Given the description of an element on the screen output the (x, y) to click on. 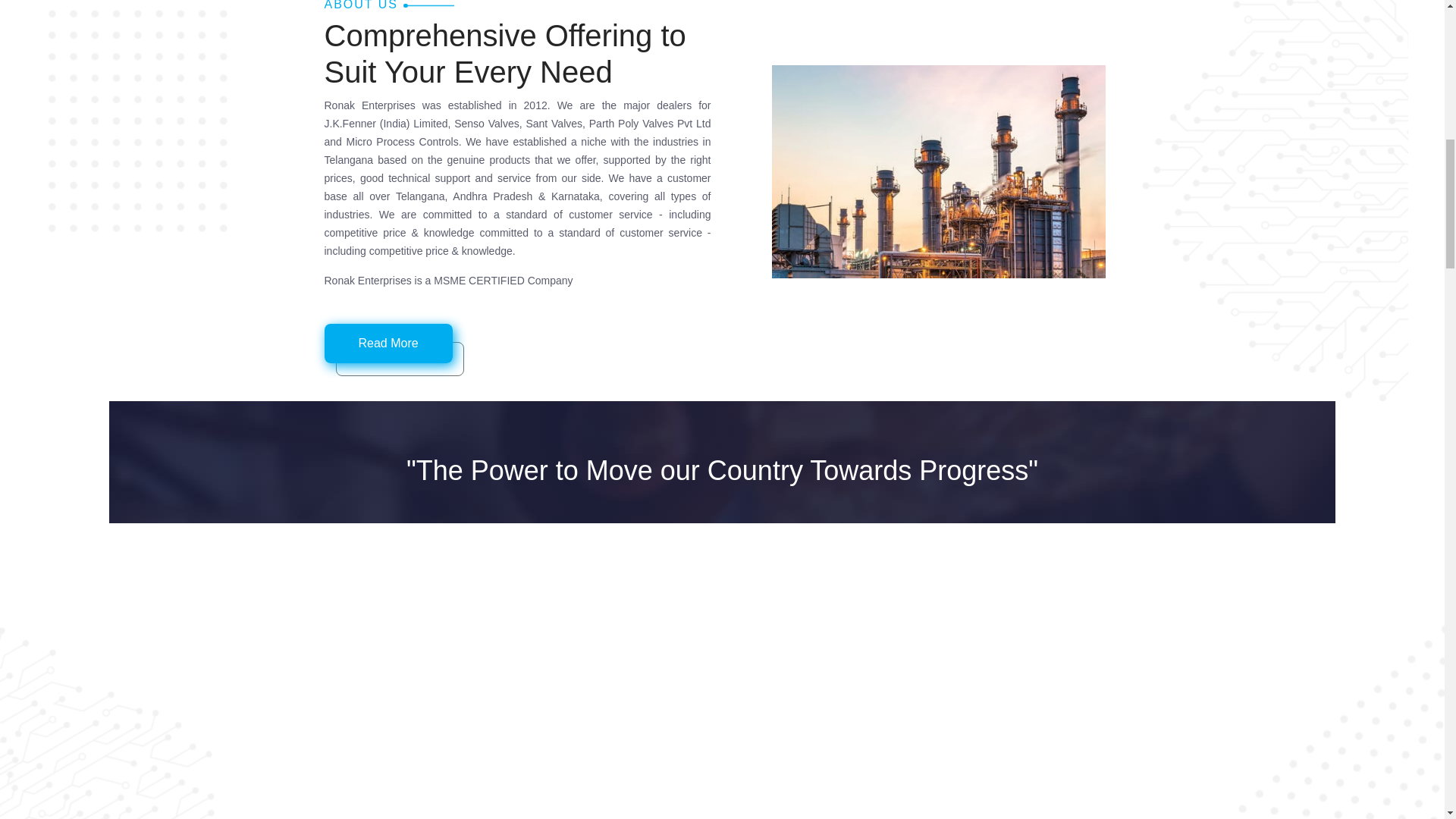
Read More (388, 343)
